Given the description of an element on the screen output the (x, y) to click on. 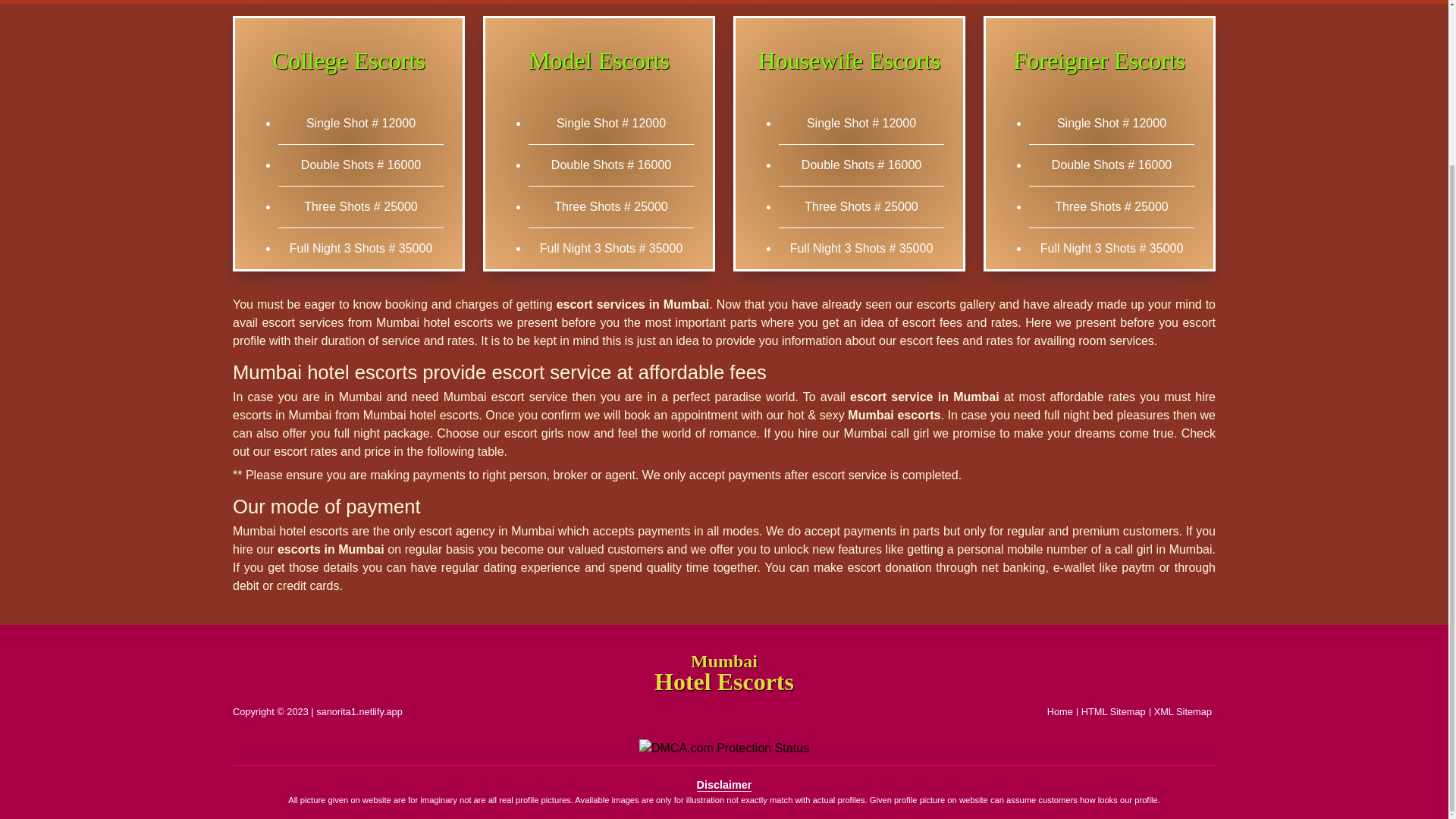
XML Sitemap (1182, 711)
DMCA.com Protection Status (724, 748)
HTML Sitemap (1113, 711)
Home (1059, 711)
